Given the description of an element on the screen output the (x, y) to click on. 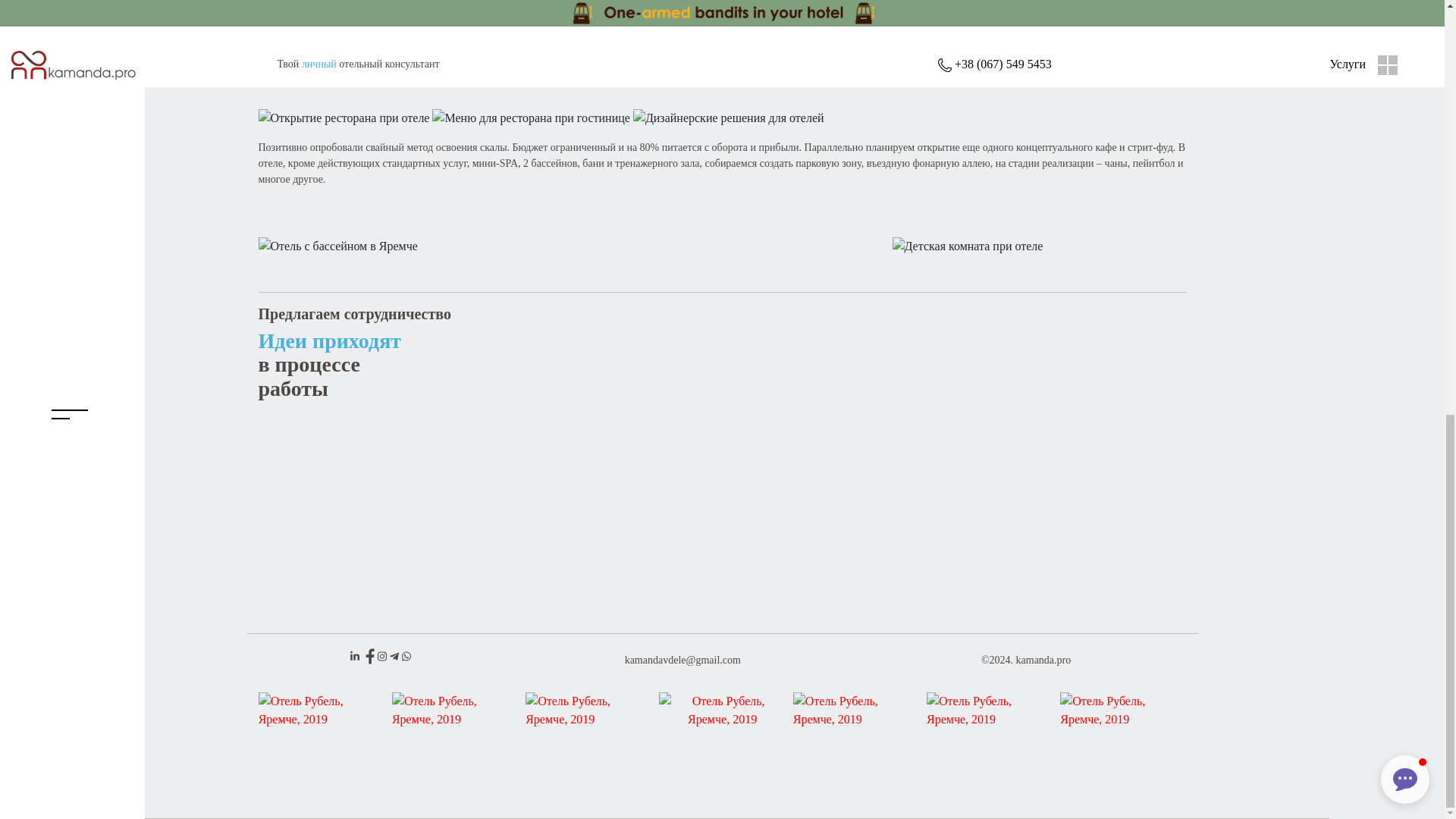
Telegram (395, 654)
